Given the description of an element on the screen output the (x, y) to click on. 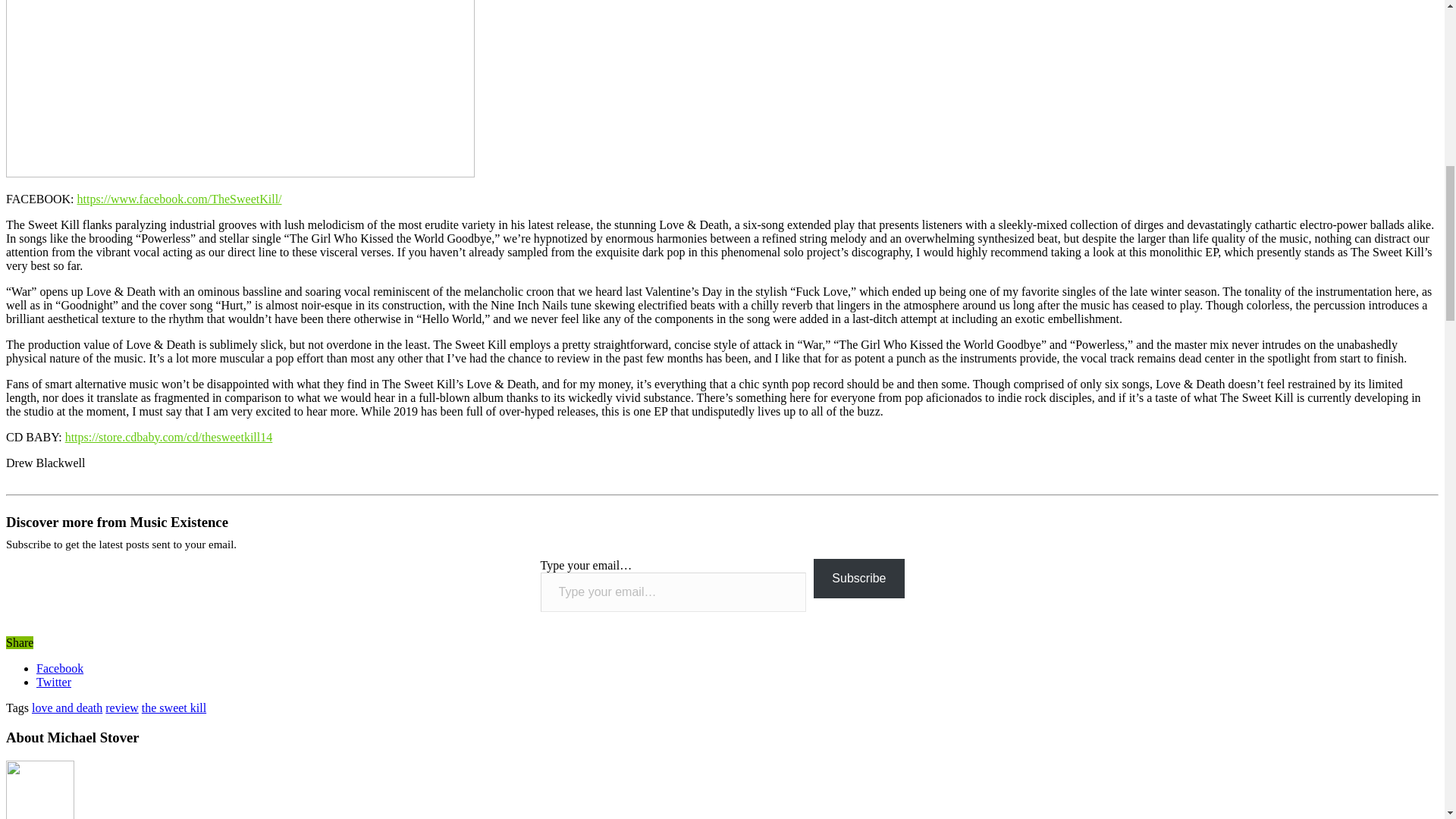
review (121, 707)
Subscribe (858, 578)
Facebook (59, 667)
Twitter (53, 681)
the sweet kill (173, 707)
love and death (66, 707)
